Given the description of an element on the screen output the (x, y) to click on. 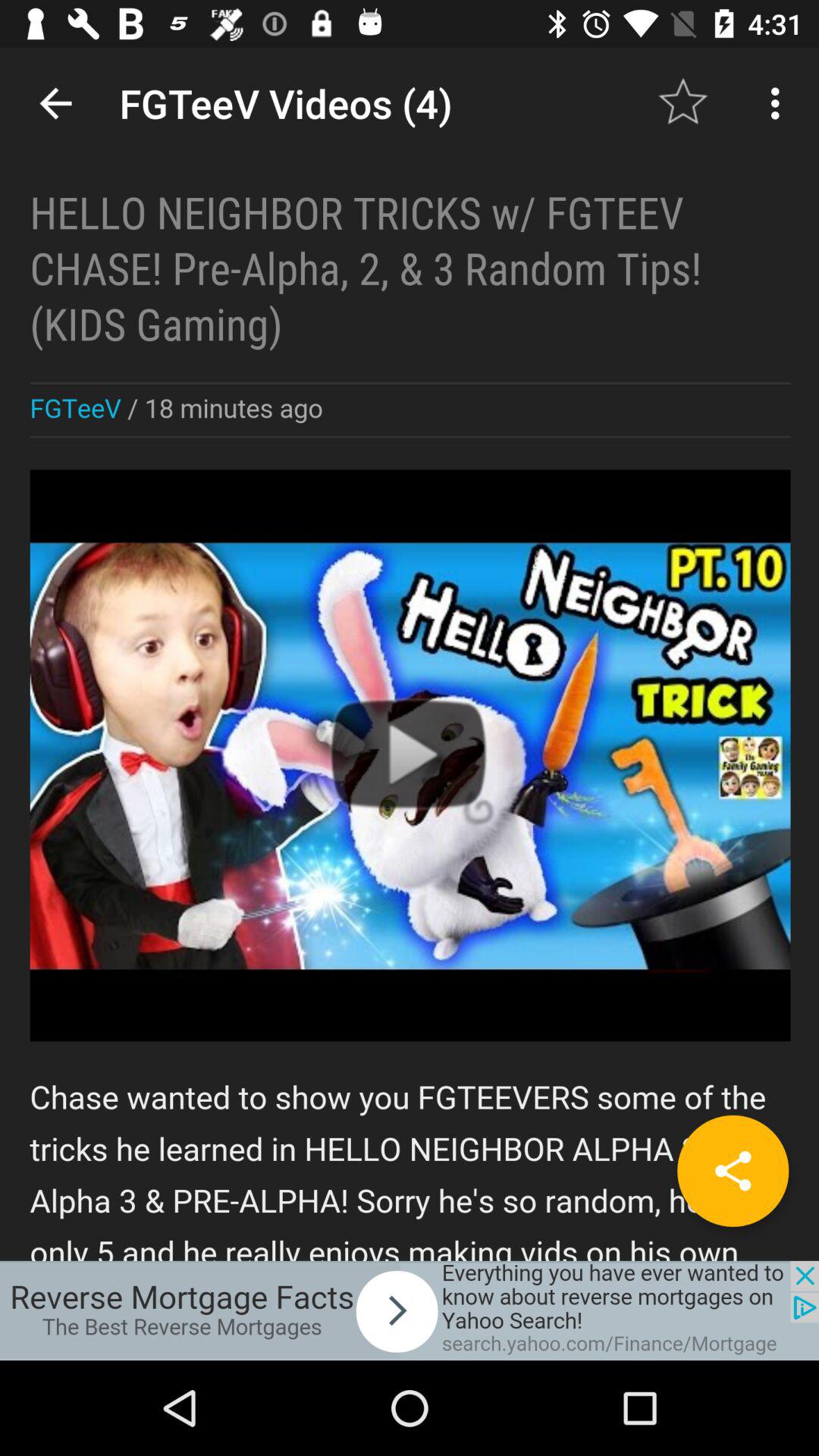
share item (733, 1171)
